Given the description of an element on the screen output the (x, y) to click on. 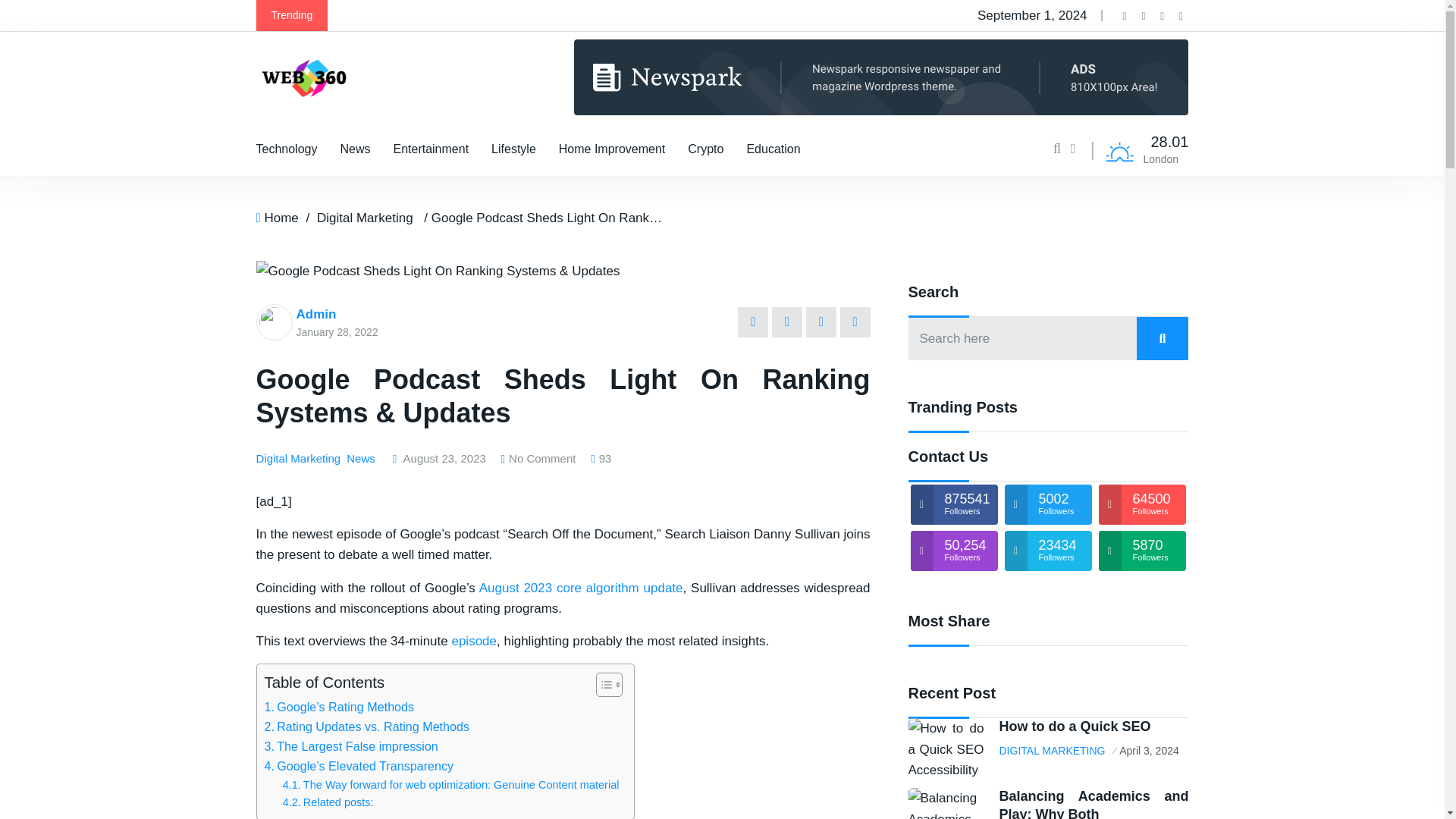
Related posts: (328, 802)
News (355, 149)
The Largest False impression (350, 746)
Rating Updates vs. Rating Methods (365, 727)
Lifestyle (513, 149)
Entertainment (430, 149)
Technology (286, 149)
